Given the description of an element on the screen output the (x, y) to click on. 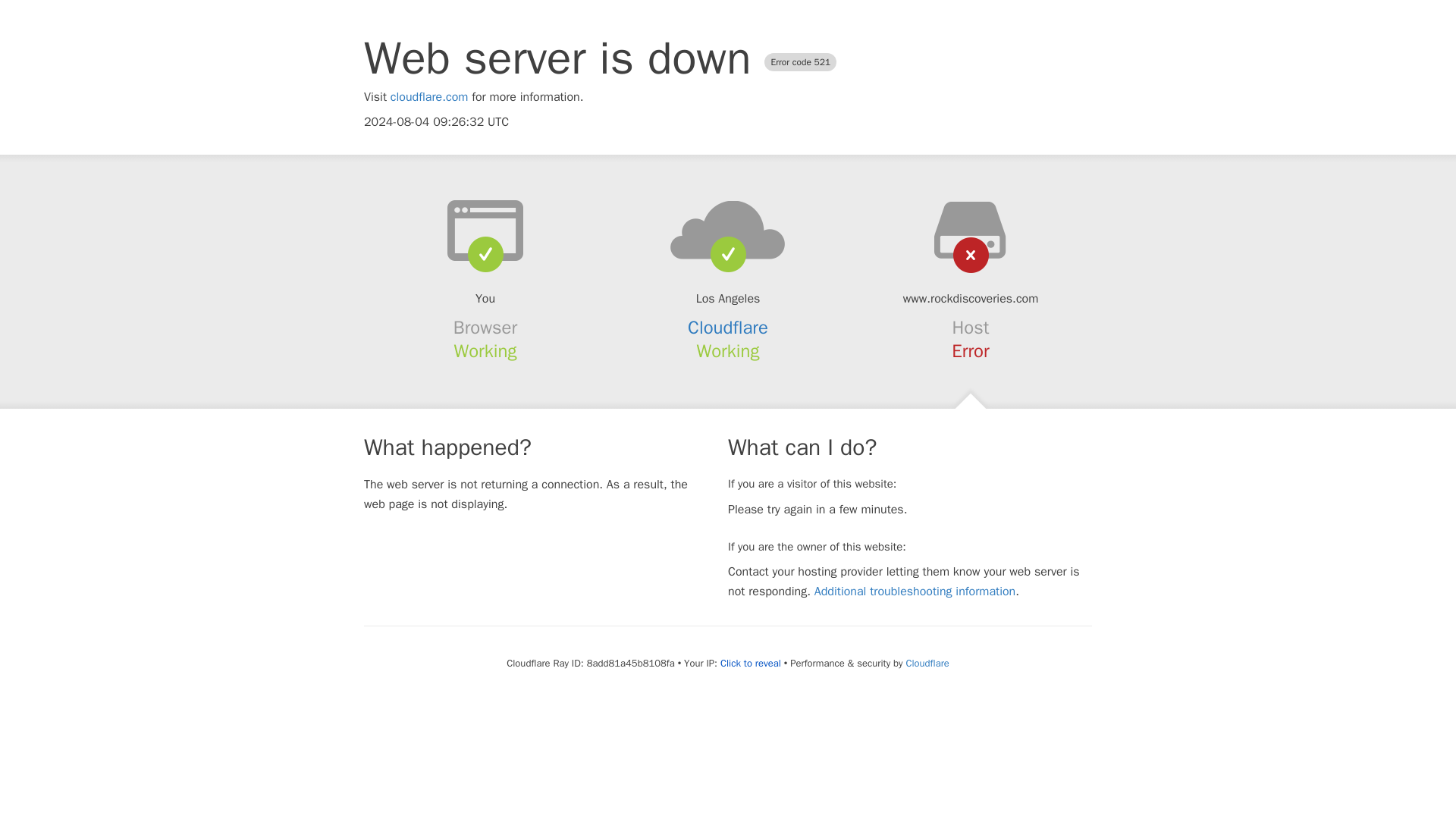
Cloudflare (727, 327)
Click to reveal (750, 663)
Additional troubleshooting information (913, 590)
cloudflare.com (429, 96)
Cloudflare (927, 662)
